Given the description of an element on the screen output the (x, y) to click on. 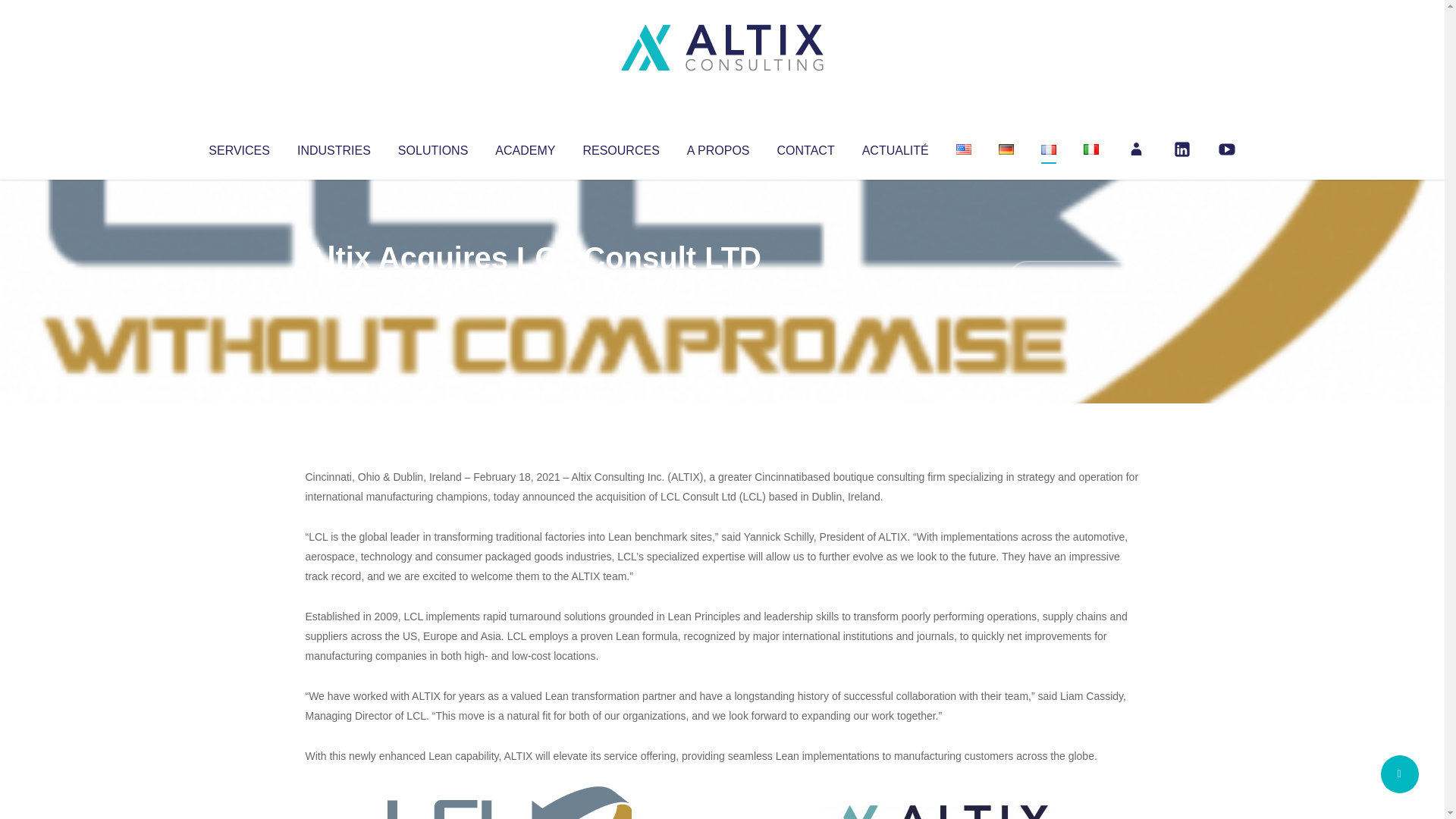
INDUSTRIES (334, 146)
ACADEMY (524, 146)
RESOURCES (620, 146)
Articles par Altix (333, 287)
Uncategorized (530, 287)
Altix (333, 287)
A PROPOS (718, 146)
No Comments (1073, 278)
SERVICES (238, 146)
SOLUTIONS (432, 146)
